Given the description of an element on the screen output the (x, y) to click on. 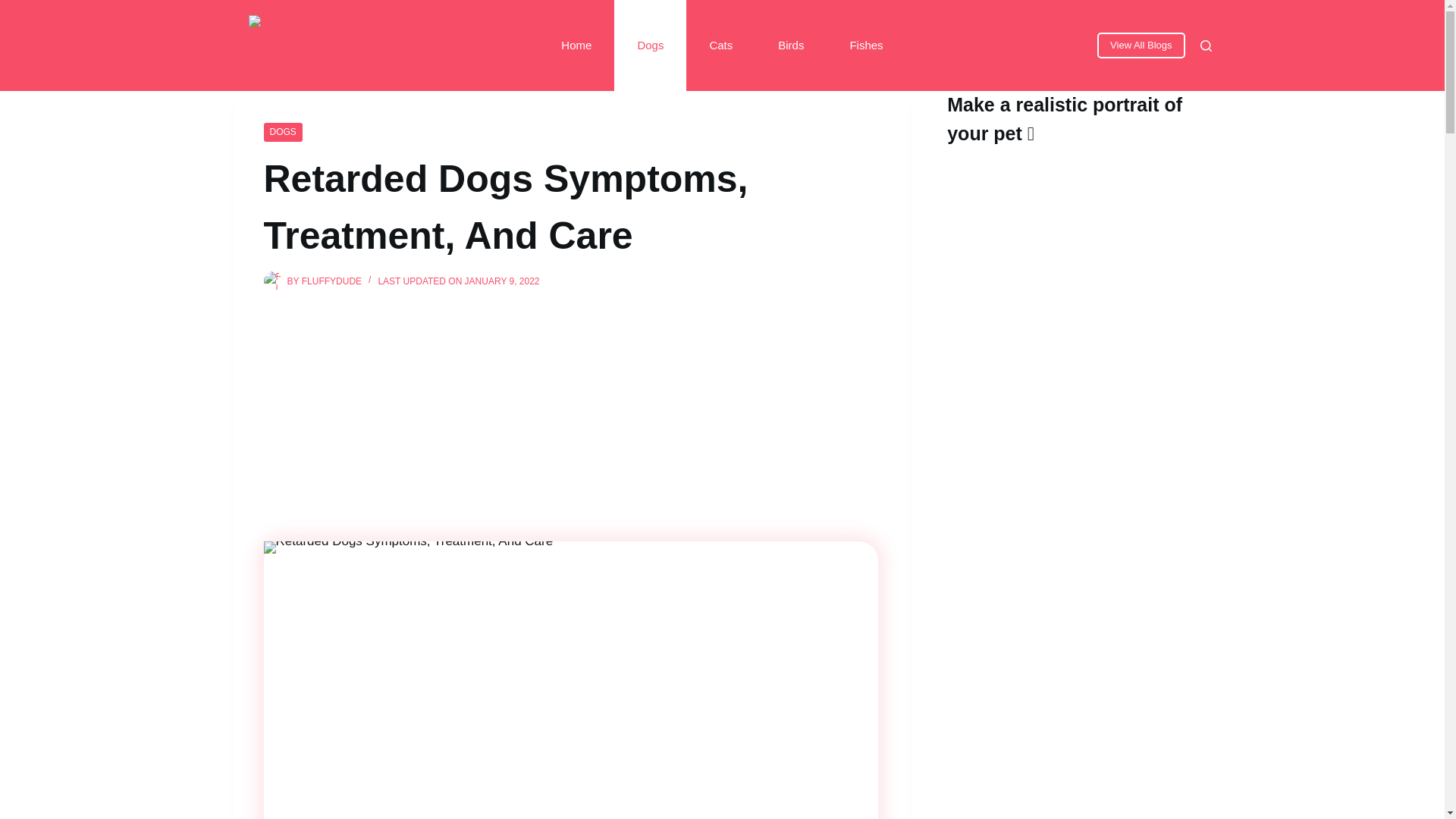
Advertisement (570, 404)
View All Blogs (1141, 45)
Posts by FluffyDude (331, 281)
Retarded Dogs Symptoms, Treatment, And Care (570, 207)
FLUFFYDUDE (331, 281)
DOGS (282, 131)
Skip to content (15, 7)
